Given the description of an element on the screen output the (x, y) to click on. 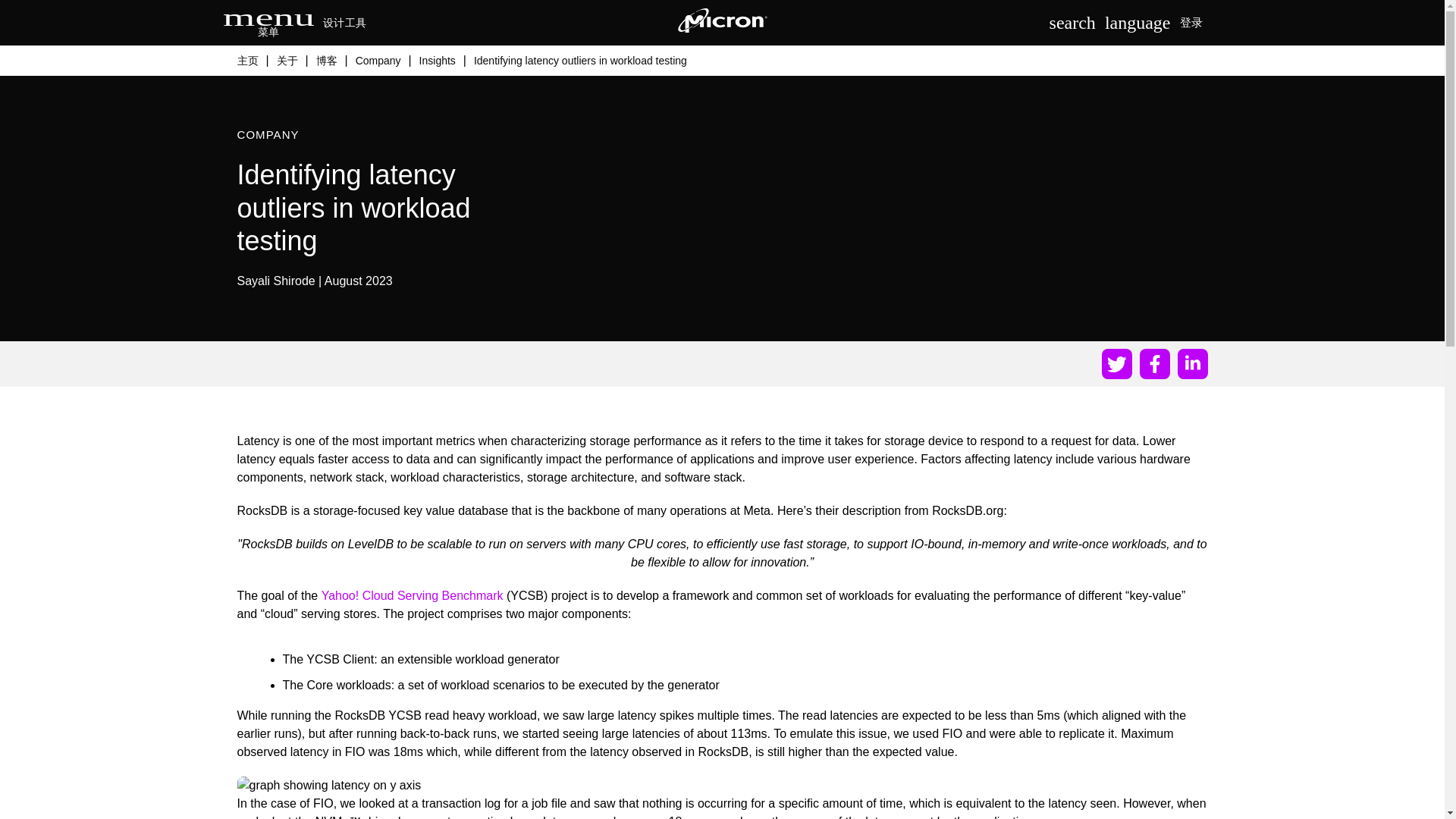
language (1137, 22)
search (1072, 22)
